Given the description of an element on the screen output the (x, y) to click on. 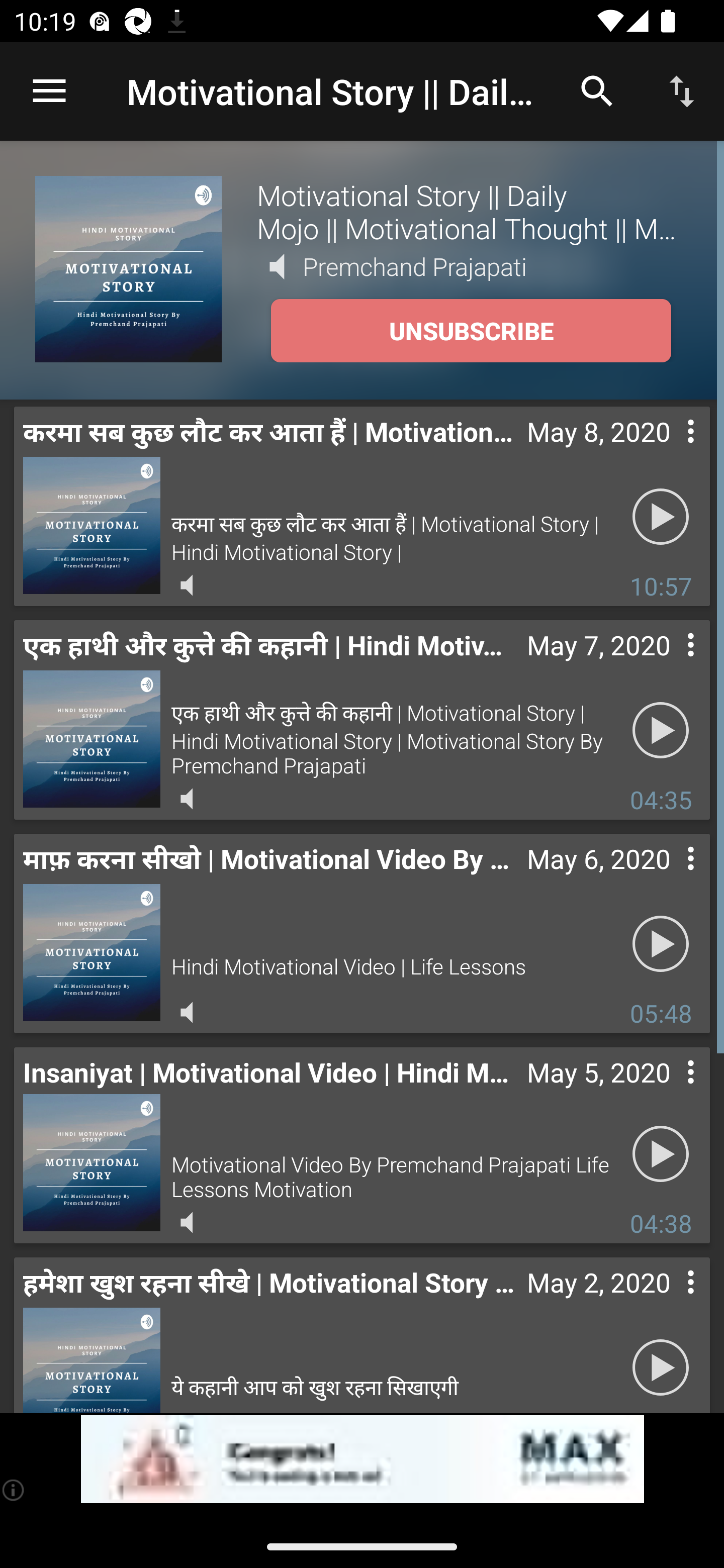
Open navigation sidebar (49, 91)
Search (597, 90)
Sort (681, 90)
UNSUBSCRIBE (470, 330)
Contextual menu (668, 451)
Play (660, 516)
Contextual menu (668, 665)
Play (660, 729)
Contextual menu (668, 878)
Play (660, 943)
Contextual menu (668, 1091)
Play (660, 1152)
Contextual menu (668, 1301)
Play (660, 1365)
app-monetization (362, 1459)
(i) (14, 1489)
